Given the description of an element on the screen output the (x, y) to click on. 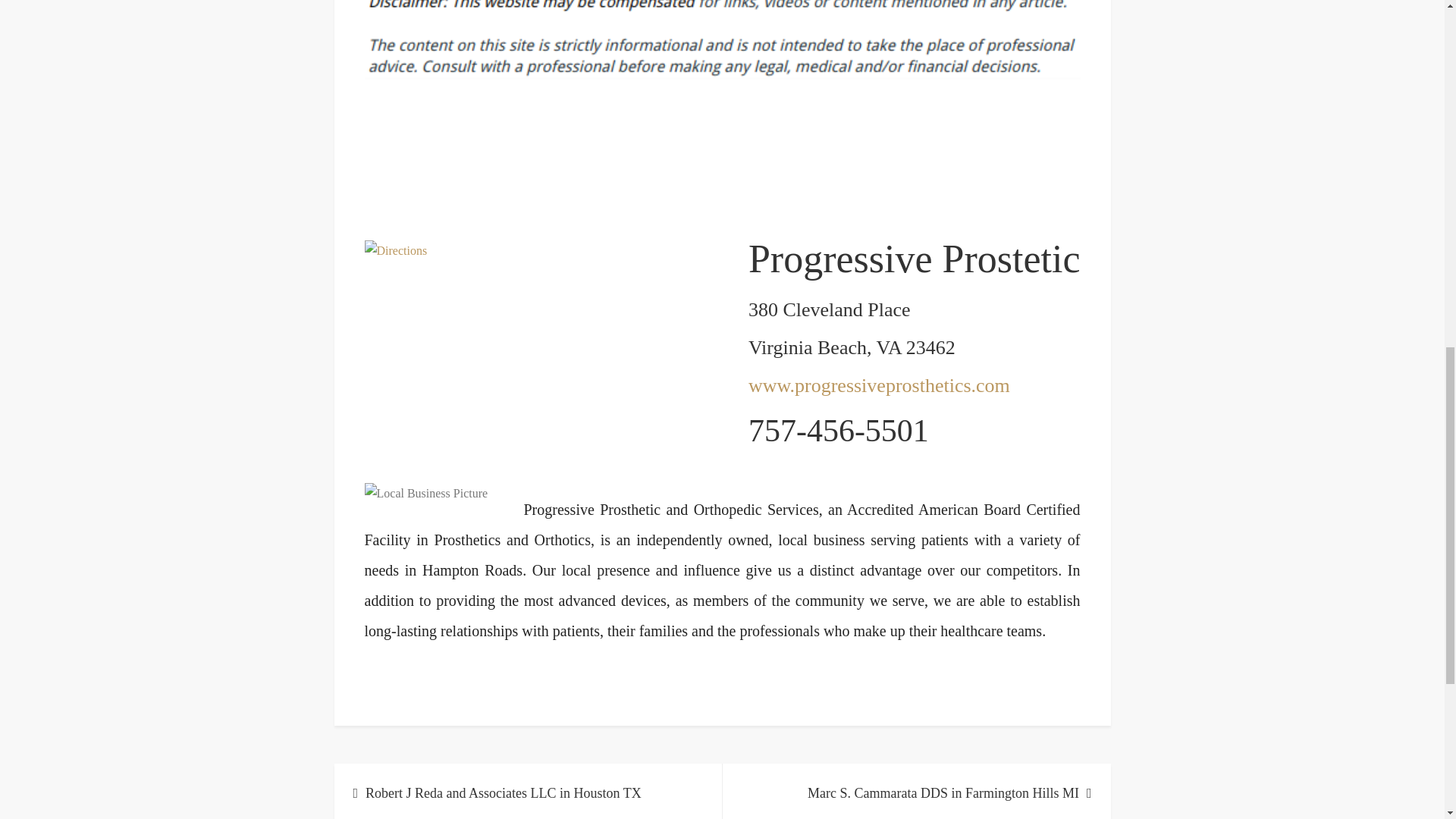
Marc S. Cammarata DDS in Farmington Hills MI (915, 791)
www.progressiveprosthetics.com (879, 385)
Robert J Reda and Associates LLC in Houston TX (527, 791)
